Given the description of an element on the screen output the (x, y) to click on. 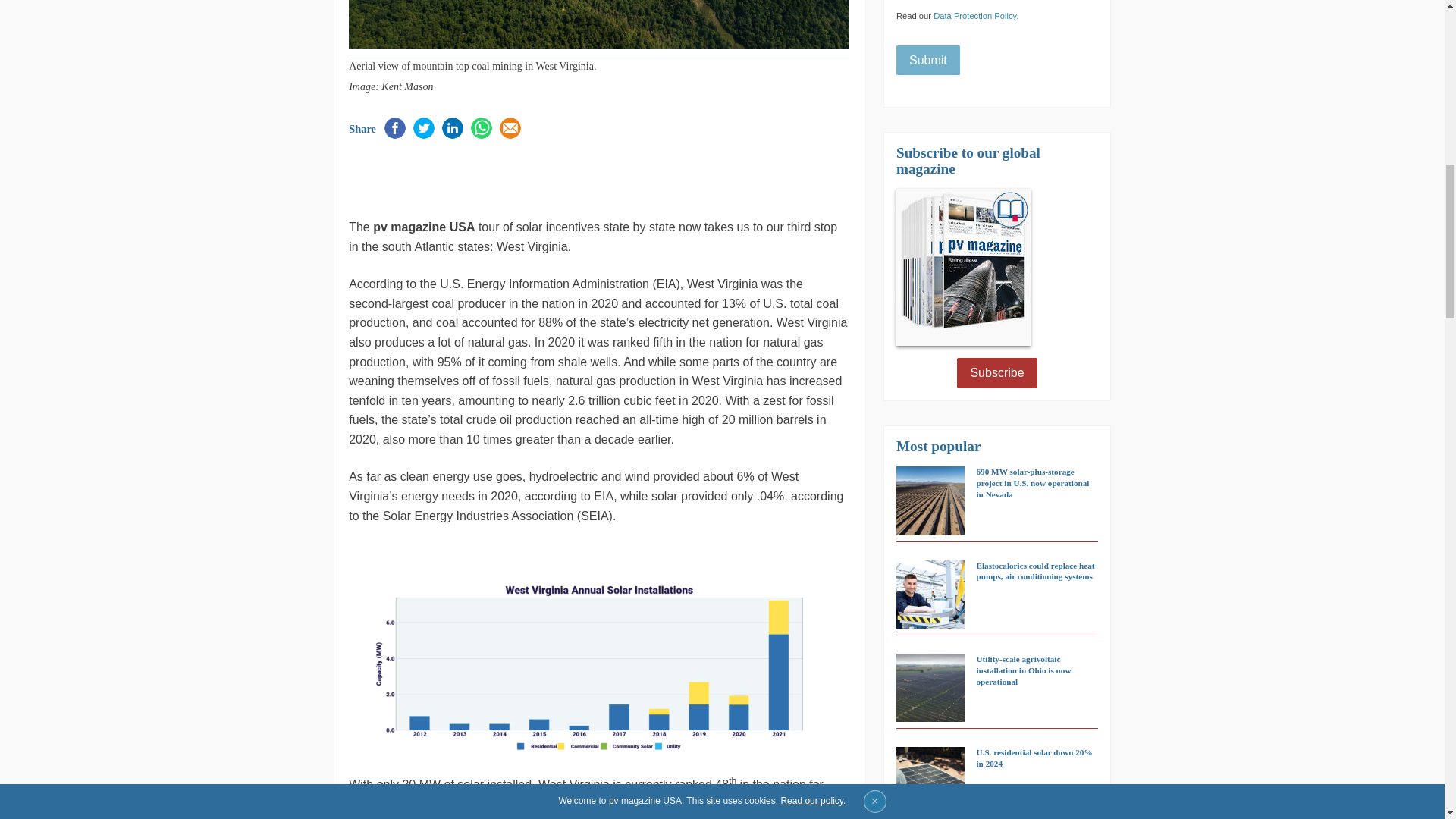
Submit (927, 60)
3rd party ad content (526, 176)
